Given the description of an element on the screen output the (x, y) to click on. 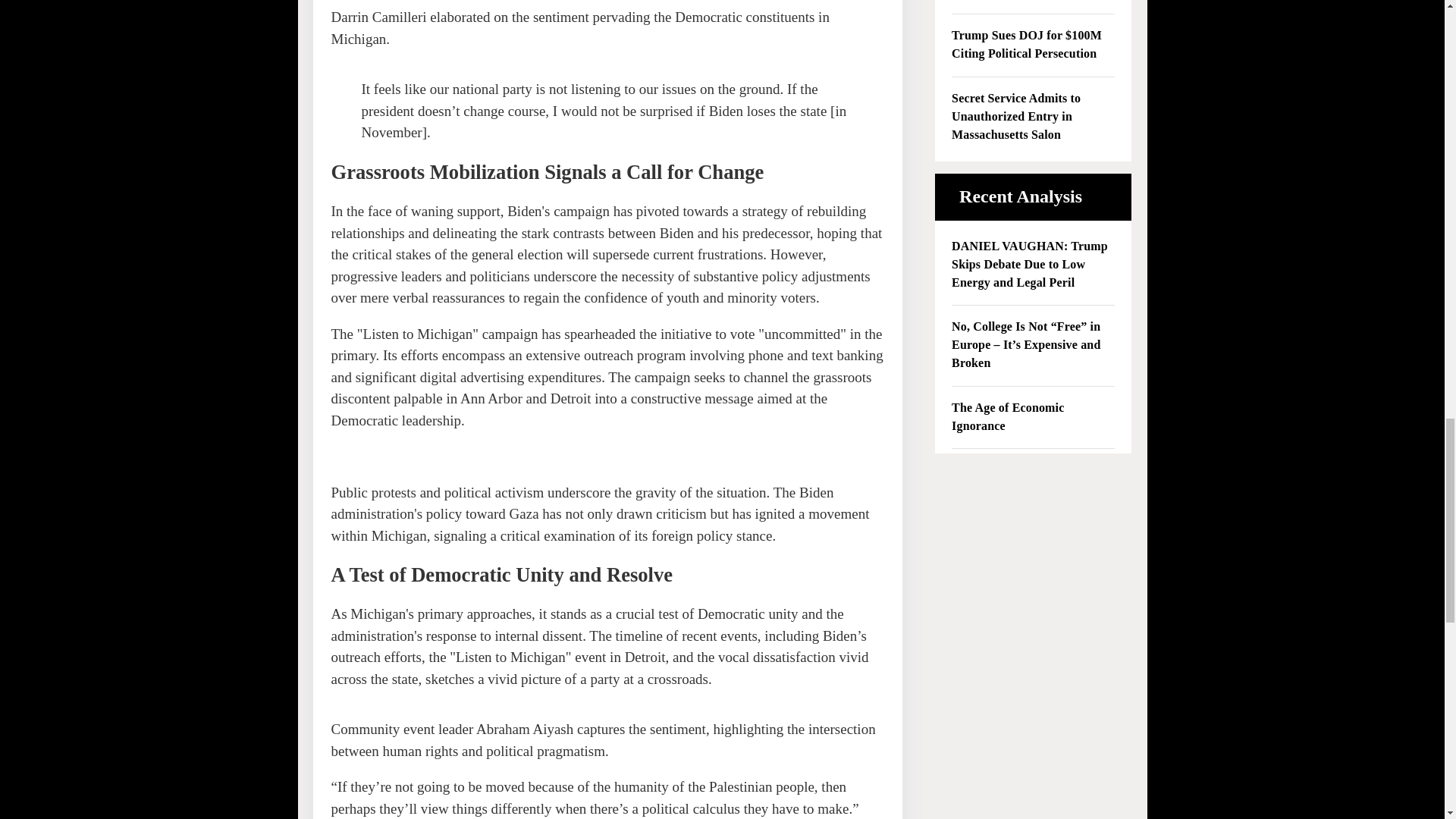
New Jersey Congressman Bill Pascrell Hospitalized Once More (1033, 1)
The Age of Economic Ignorance (1033, 417)
